Given the description of an element on the screen output the (x, y) to click on. 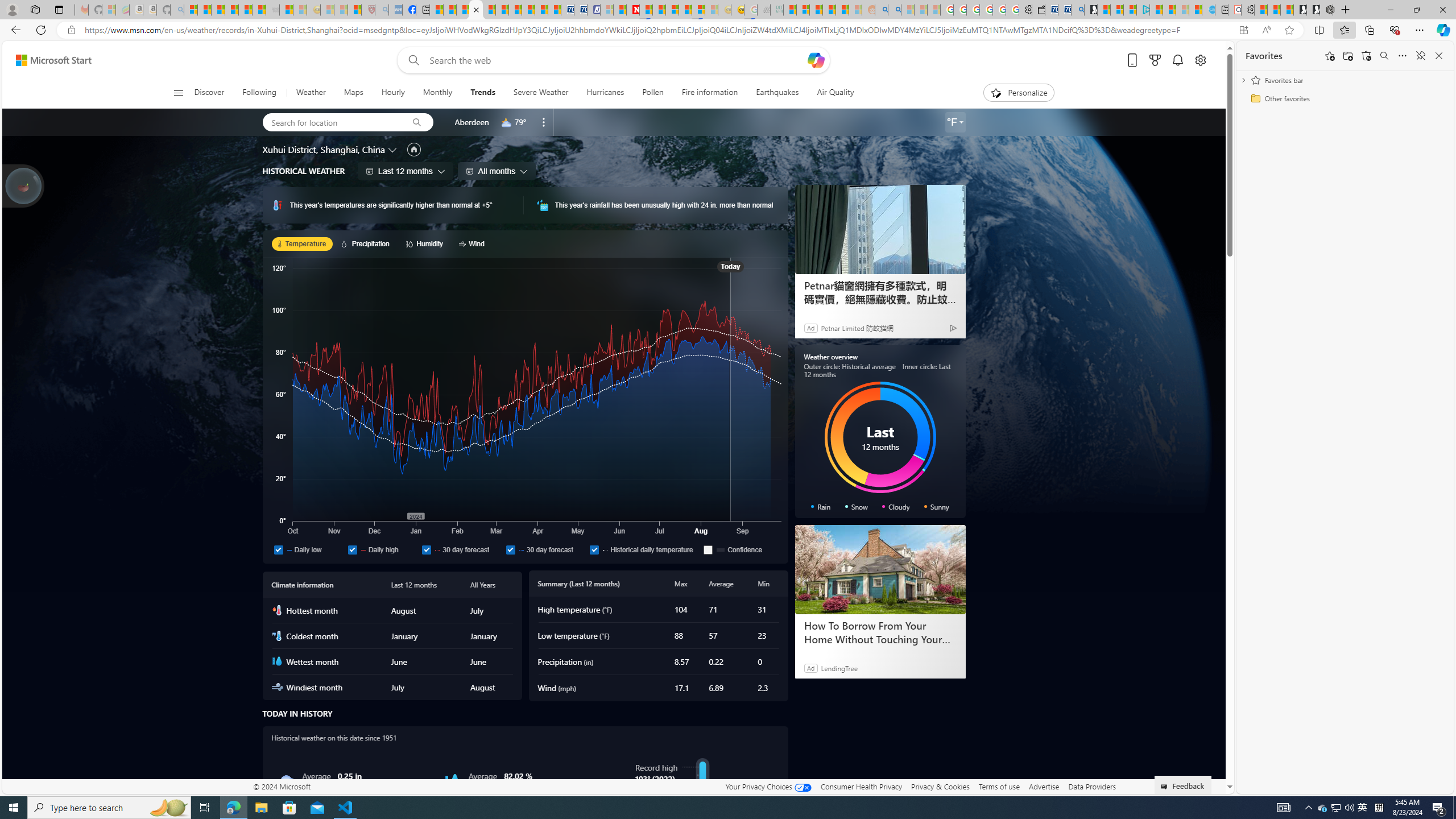
Pollen (652, 92)
Fire information (709, 92)
Historical daily temperature (594, 549)
Confidence (740, 549)
Xuhui District, Shanghai, China (323, 149)
Cheap Hotels - Save70.com (580, 9)
